Given the description of an element on the screen output the (x, y) to click on. 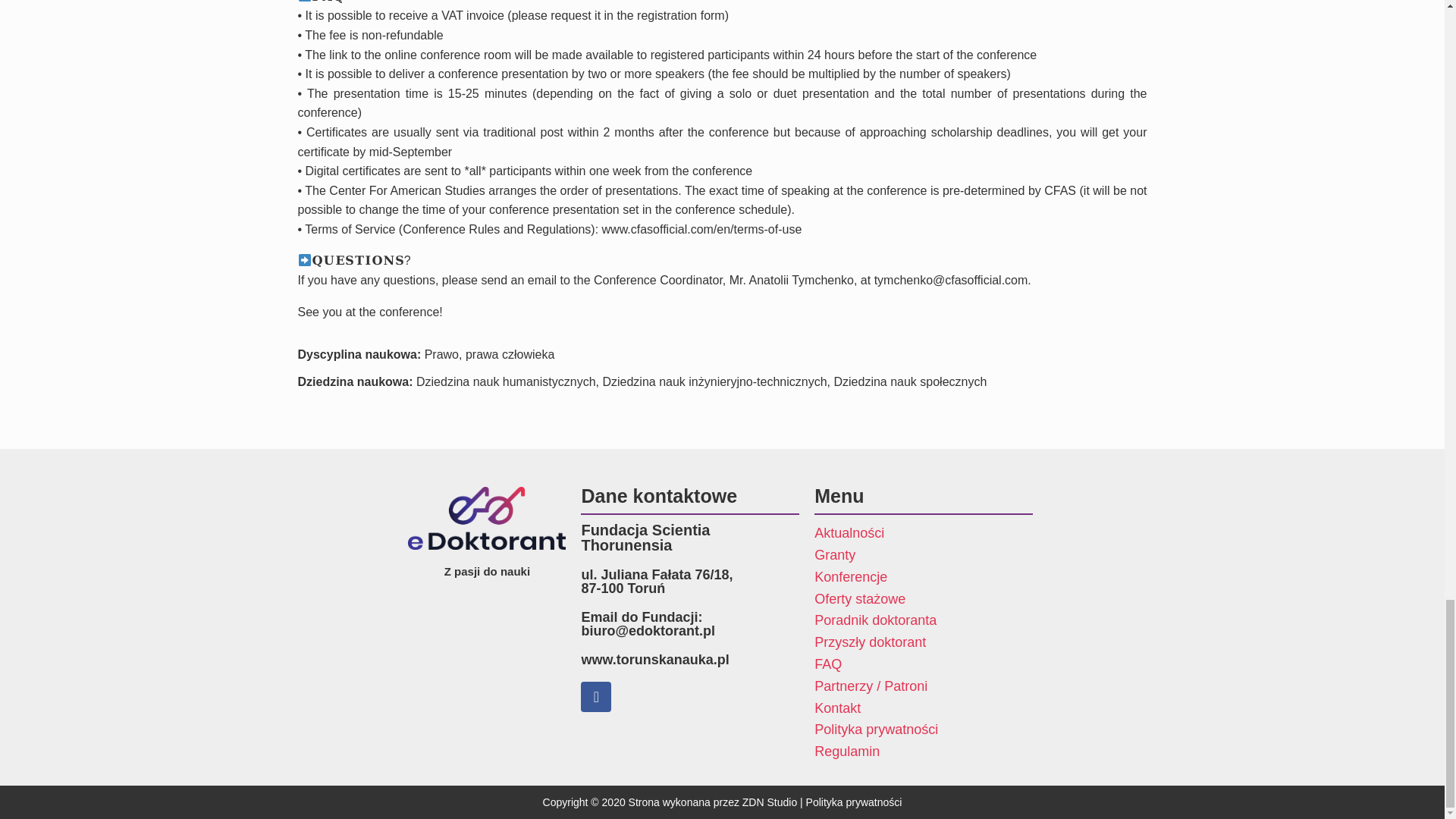
Konferencje (922, 577)
www.torunskanauka.pl (654, 659)
Regulamin (922, 751)
Kontakt (922, 708)
Poradnik doktoranta (922, 620)
FAQ (922, 664)
ZDN Studio (769, 802)
Granty (922, 555)
